Given the description of an element on the screen output the (x, y) to click on. 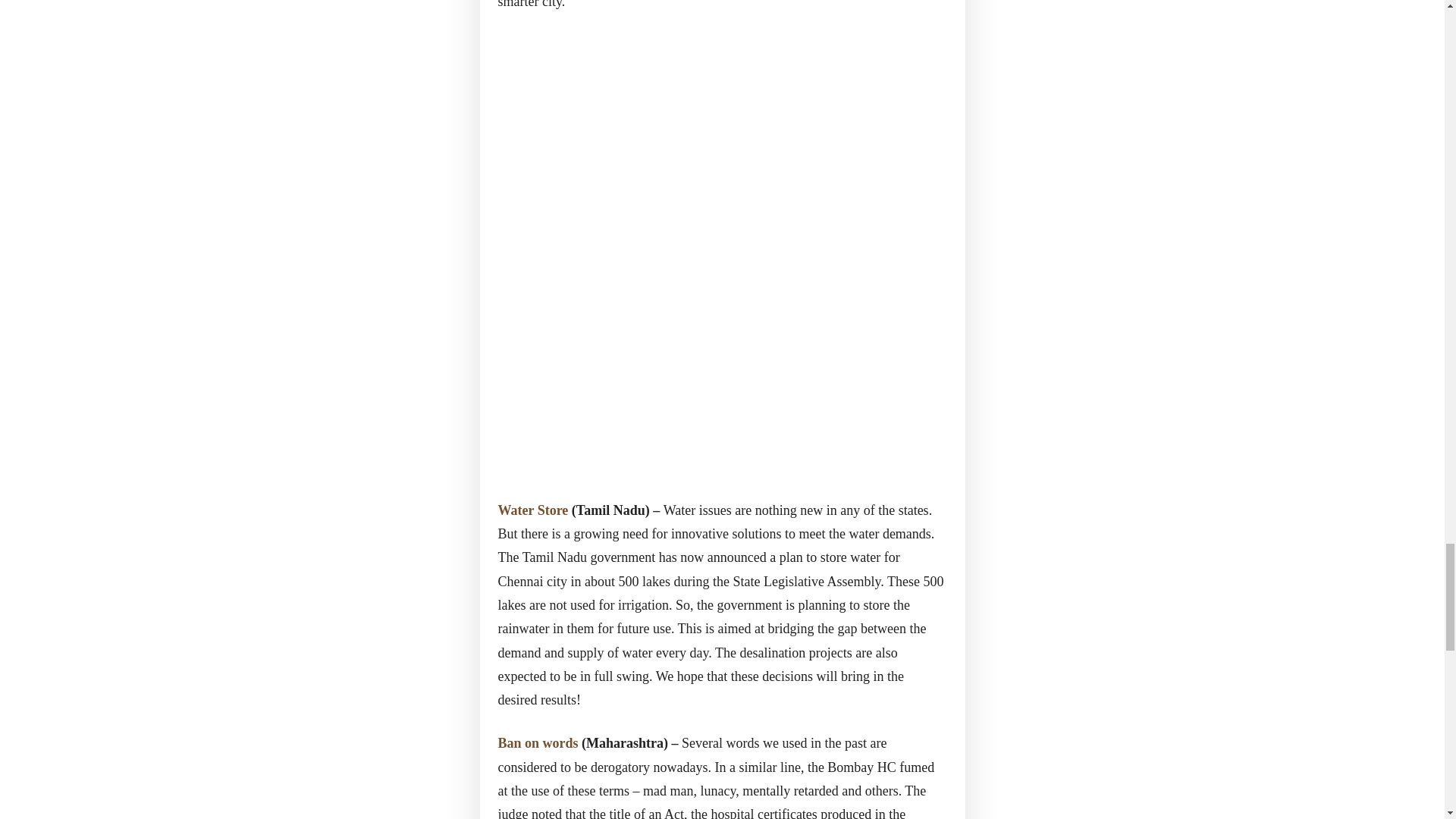
Ban on words (537, 743)
Water Store (532, 509)
